Given the description of an element on the screen output the (x, y) to click on. 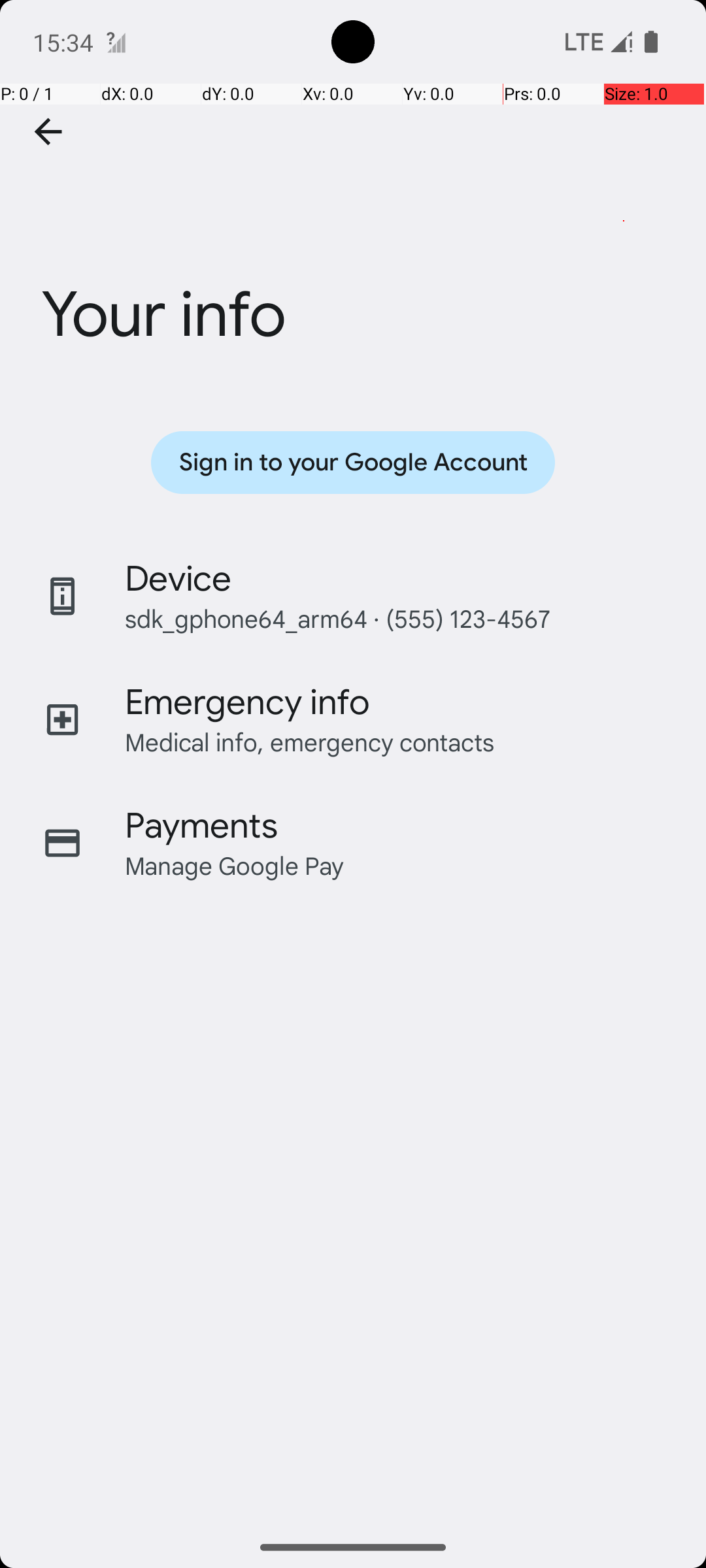
Sign in to your Google Account Element type: android.widget.Button (352, 462)
sdk_gphone64_arm64 · (555) 123-4567 Element type: android.widget.TextView (337, 618)
Emergency info Element type: android.widget.TextView (246, 702)
Medical info, emergency contacts Element type: android.widget.TextView (309, 741)
Payments Element type: android.widget.TextView (200, 825)
Manage Google Pay Element type: android.widget.TextView (234, 865)
